Given the description of an element on the screen output the (x, y) to click on. 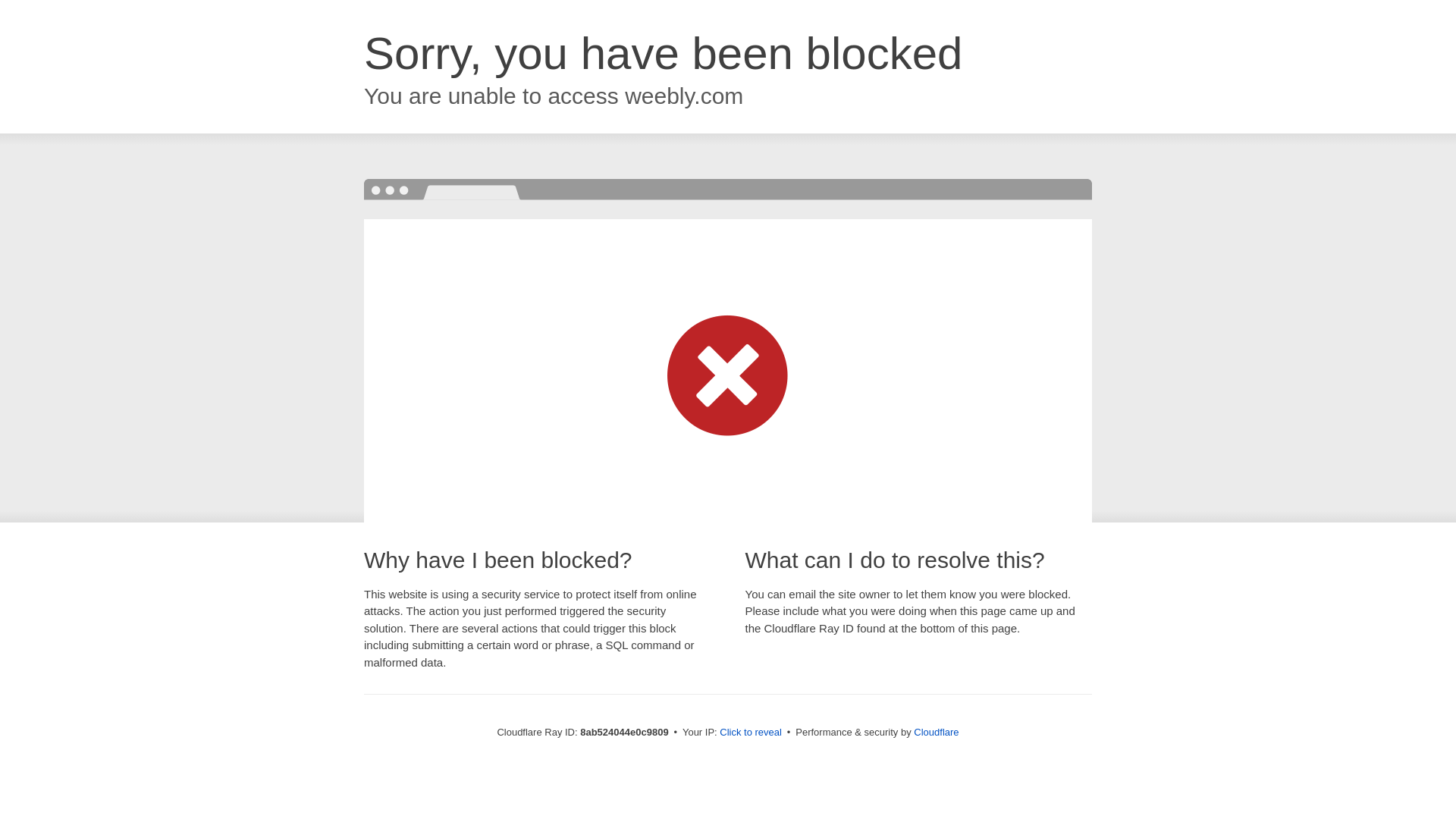
Cloudflare (936, 731)
Click to reveal (750, 732)
